Given the description of an element on the screen output the (x, y) to click on. 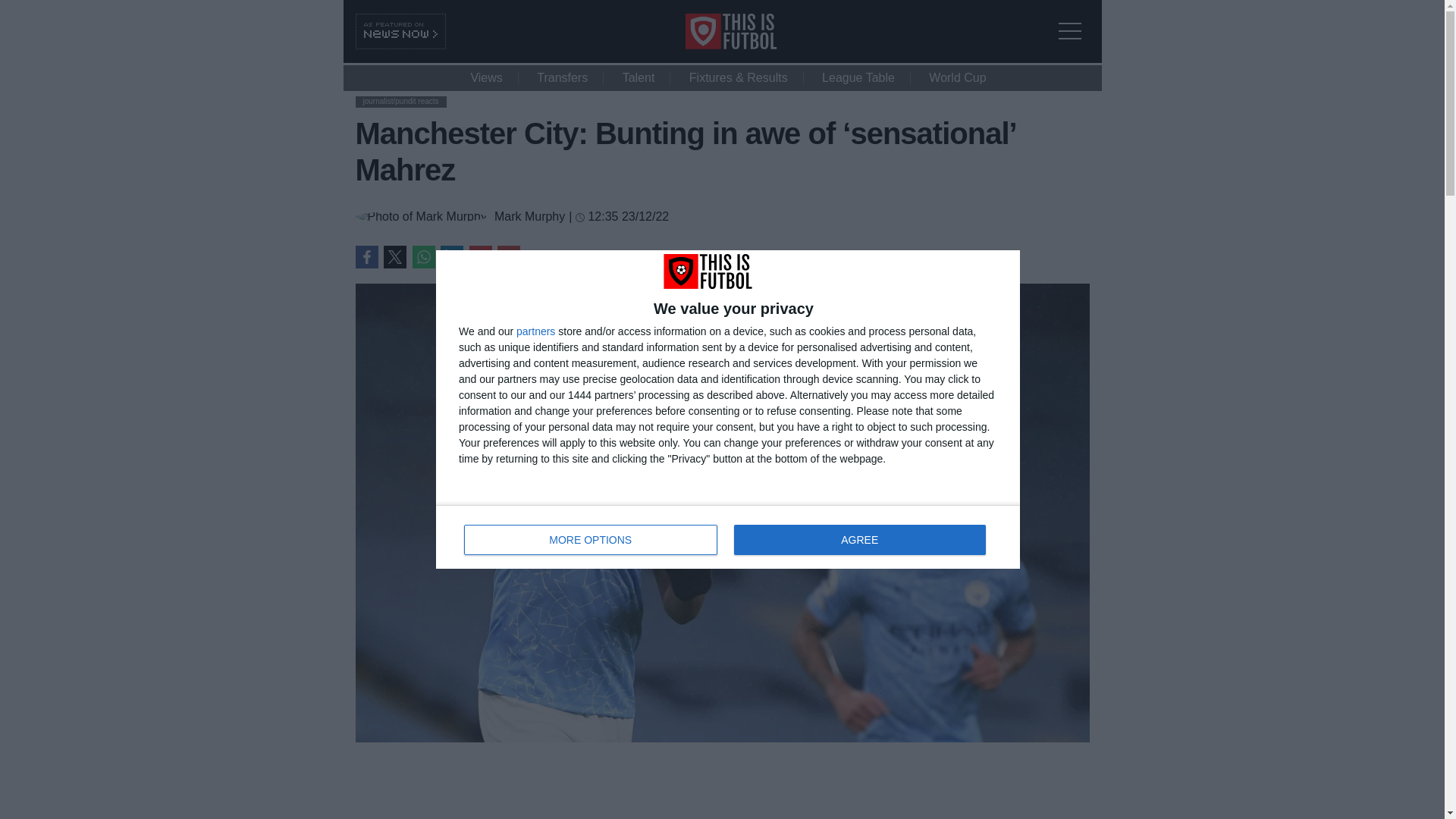
share on Twitter (395, 256)
Talent (638, 78)
World Cup (957, 78)
AGREE (859, 539)
Menu (1074, 21)
partners (535, 330)
share on WhatsApp (727, 536)
Transfers (423, 256)
share on LinkedIn (561, 78)
share on Facebook (452, 256)
League Table (366, 256)
share on Email (858, 78)
Mark Murphy (508, 256)
Views (529, 216)
